Given the description of an element on the screen output the (x, y) to click on. 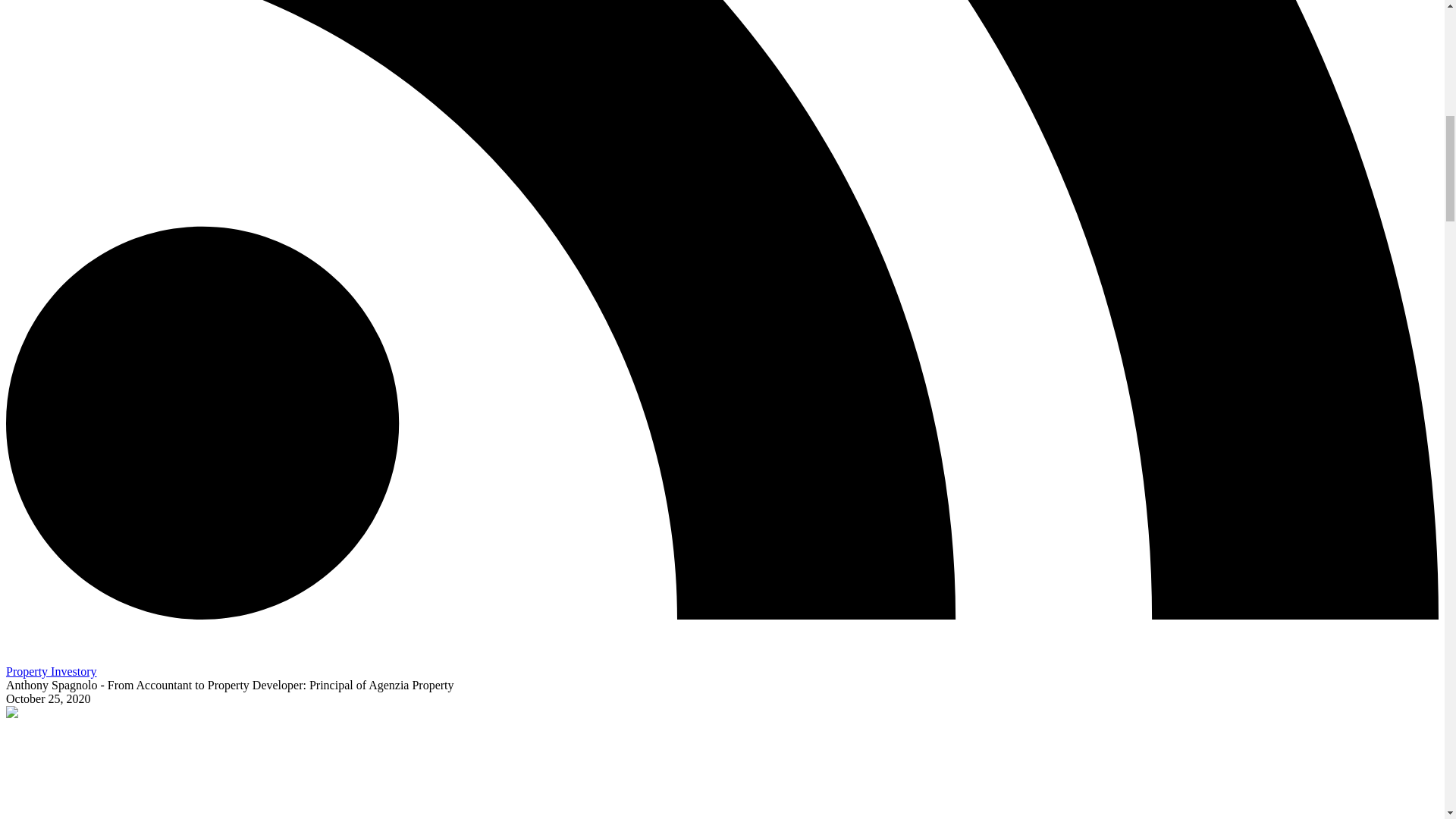
Record audio message (14, 657)
Record audio message (14, 652)
Property Investory (51, 671)
